Given the description of an element on the screen output the (x, y) to click on. 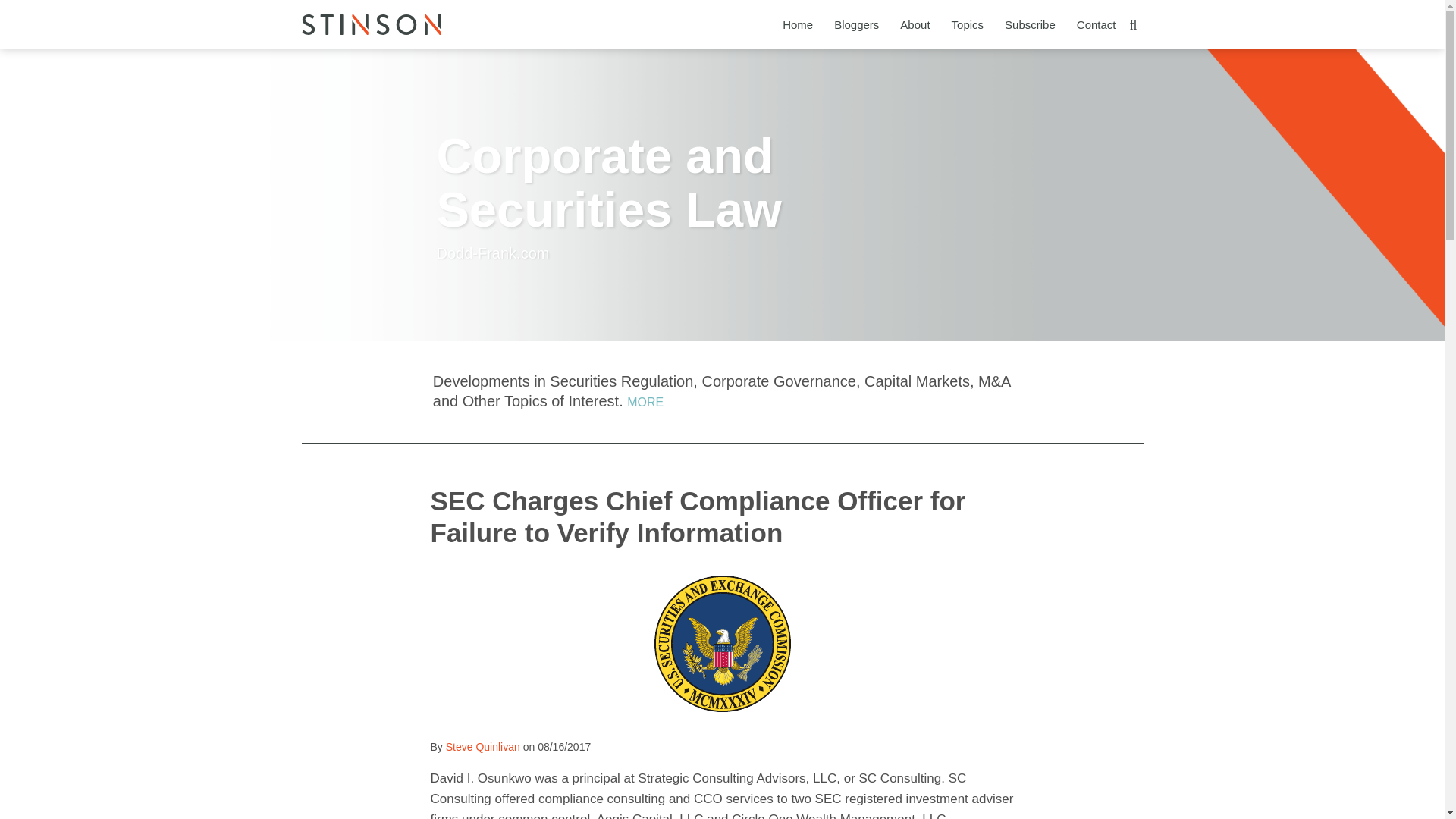
Corporate and Securities Law (608, 182)
Subscribe (1029, 24)
About (914, 24)
Steve Quinlivan (482, 746)
Contact (1096, 24)
Bloggers (856, 24)
Topics (968, 24)
MORE (645, 401)
Home (797, 24)
